Given the description of an element on the screen output the (x, y) to click on. 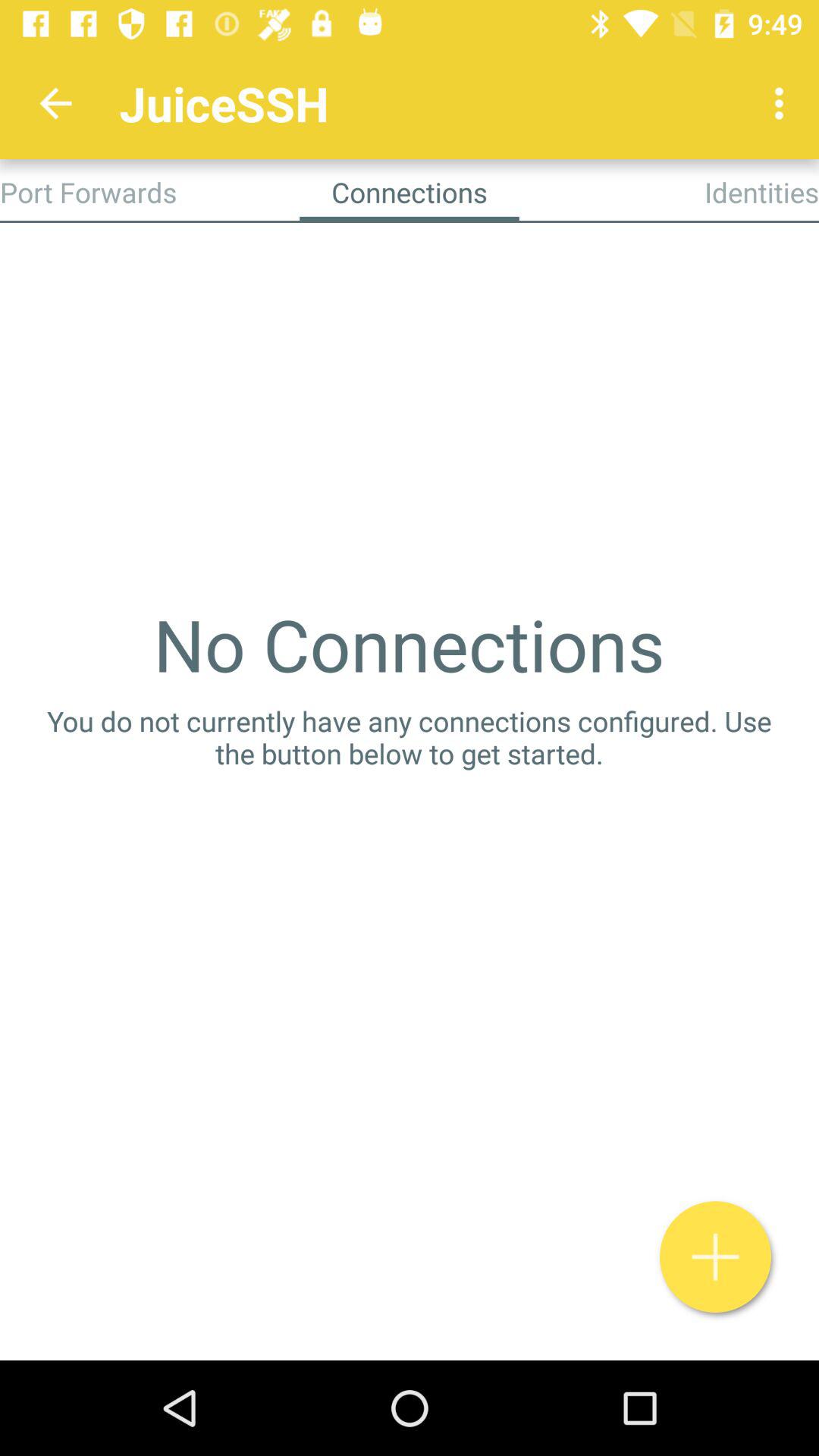
jump to no connections (408, 644)
